Given the description of an element on the screen output the (x, y) to click on. 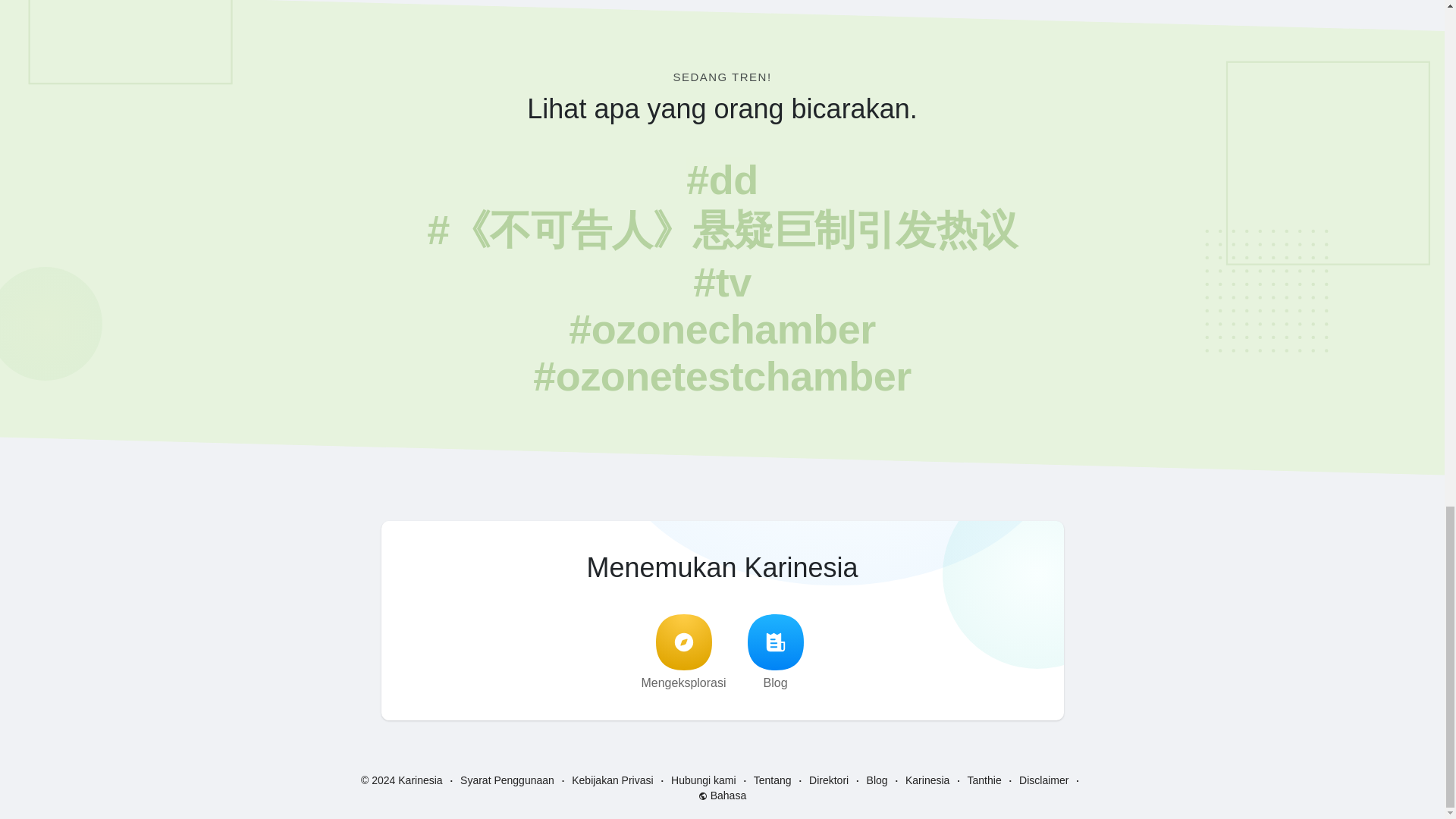
Disclaimer (1043, 779)
Mengeksplorasi (682, 652)
Tentang (773, 779)
Karinesia (927, 779)
Direktori (828, 779)
Hubungi kami (703, 779)
Kebijakan Privasi (612, 779)
Blog (877, 779)
Bahasa (721, 795)
Syarat Penggunaan (507, 779)
